Given the description of an element on the screen output the (x, y) to click on. 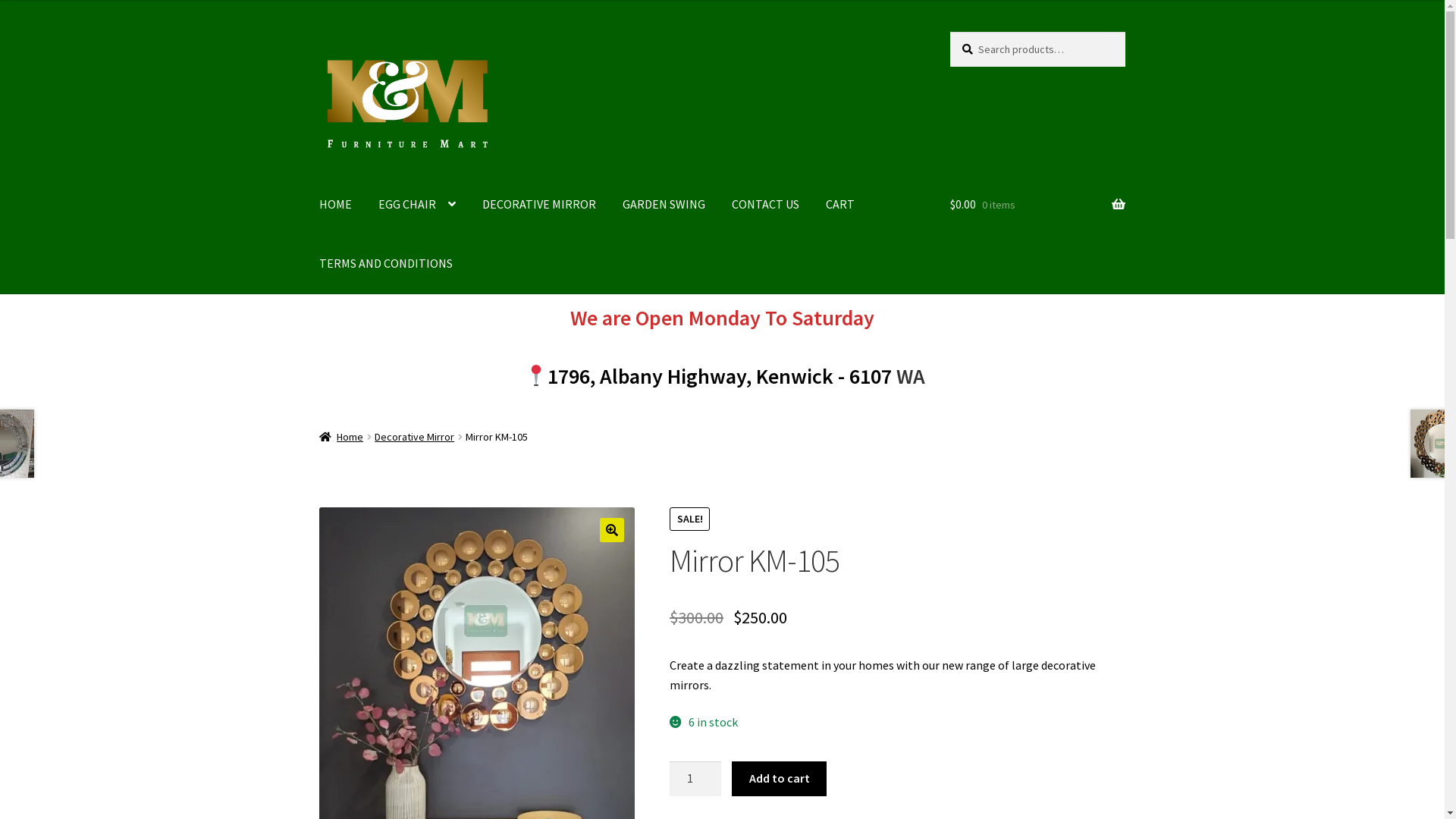
Decorative Mirror Element type: text (414, 436)
WhatsApp Image 2020-06-05 at 11.25.36 AM Element type: hover (792, 625)
TERMS AND CONDITIONS Element type: text (385, 263)
Add to cart Element type: text (778, 778)
DECORATIVE MIRROR Element type: text (539, 205)
$0.00 0 items Element type: text (1037, 205)
CONTACT US Element type: text (765, 205)
CART Element type: text (839, 205)
Search Element type: text (949, 31)
HOME Element type: text (335, 205)
Skip to navigation Element type: text (318, 31)
Home Element type: text (341, 436)
GARDEN SWING Element type: text (663, 205)
EGG CHAIR Element type: text (416, 205)
Qty Element type: hover (695, 778)
